Given the description of an element on the screen output the (x, y) to click on. 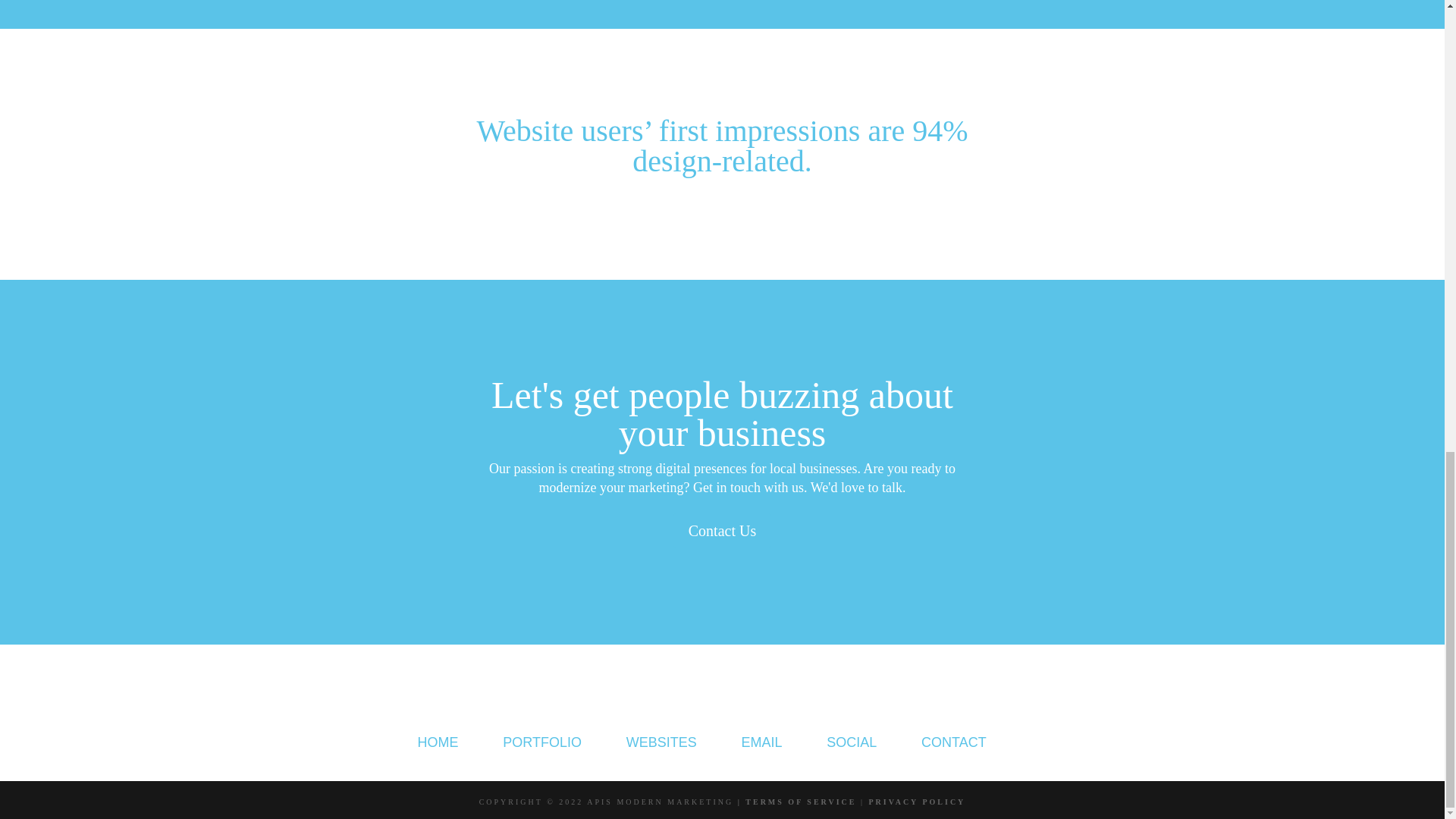
EMAIL (761, 742)
PRIVACY POLICY (917, 801)
Contact Us (721, 530)
CONTACT (954, 742)
SOCIAL (851, 742)
HOME (437, 742)
WEBSITES (661, 742)
PORTFOLIO (541, 742)
